Given the description of an element on the screen output the (x, y) to click on. 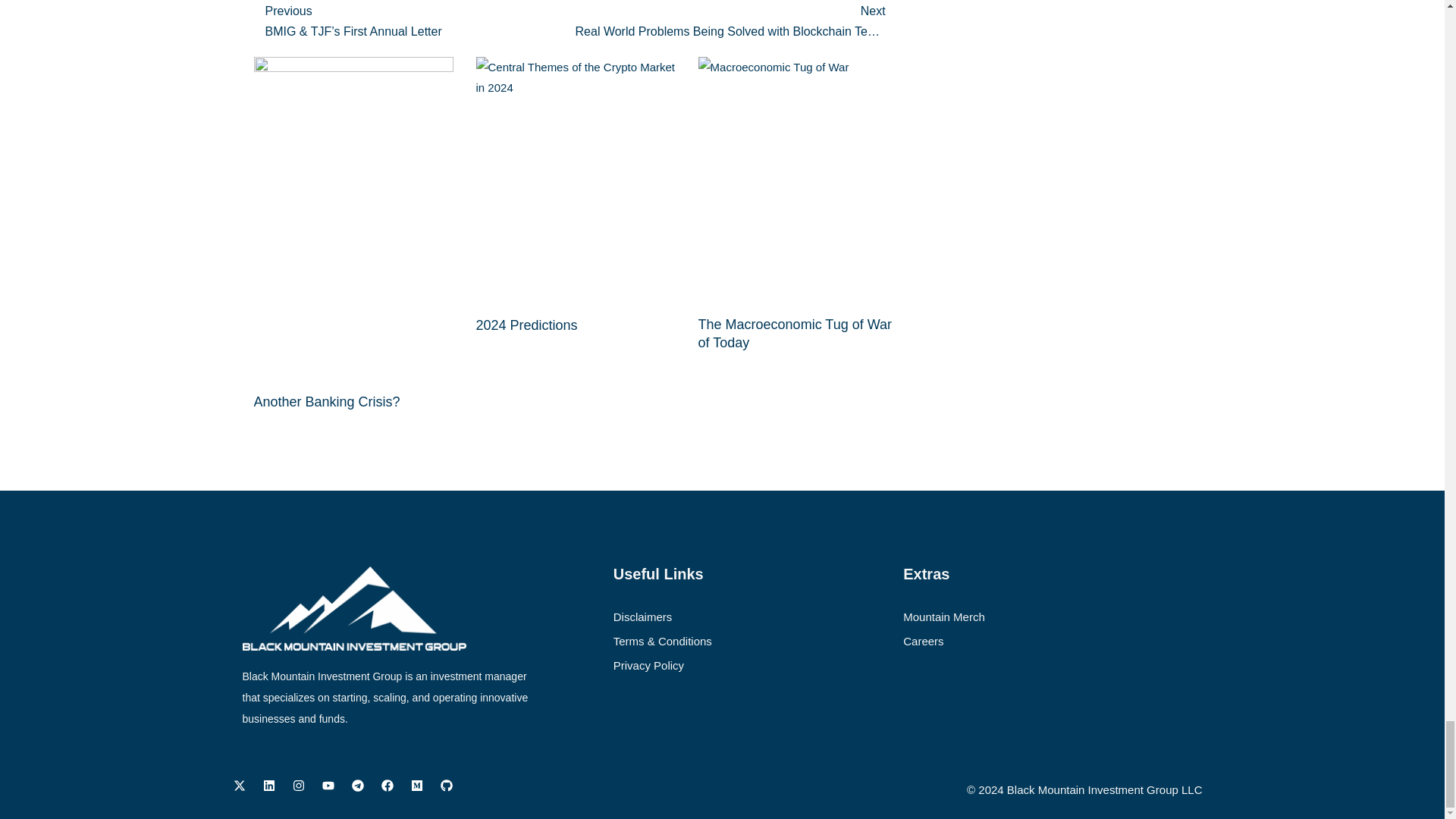
The Macroeconomic Tug of War of Today (794, 333)
2024 Predictions (527, 324)
Another Banking Crisis? (325, 401)
